Given the description of an element on the screen output the (x, y) to click on. 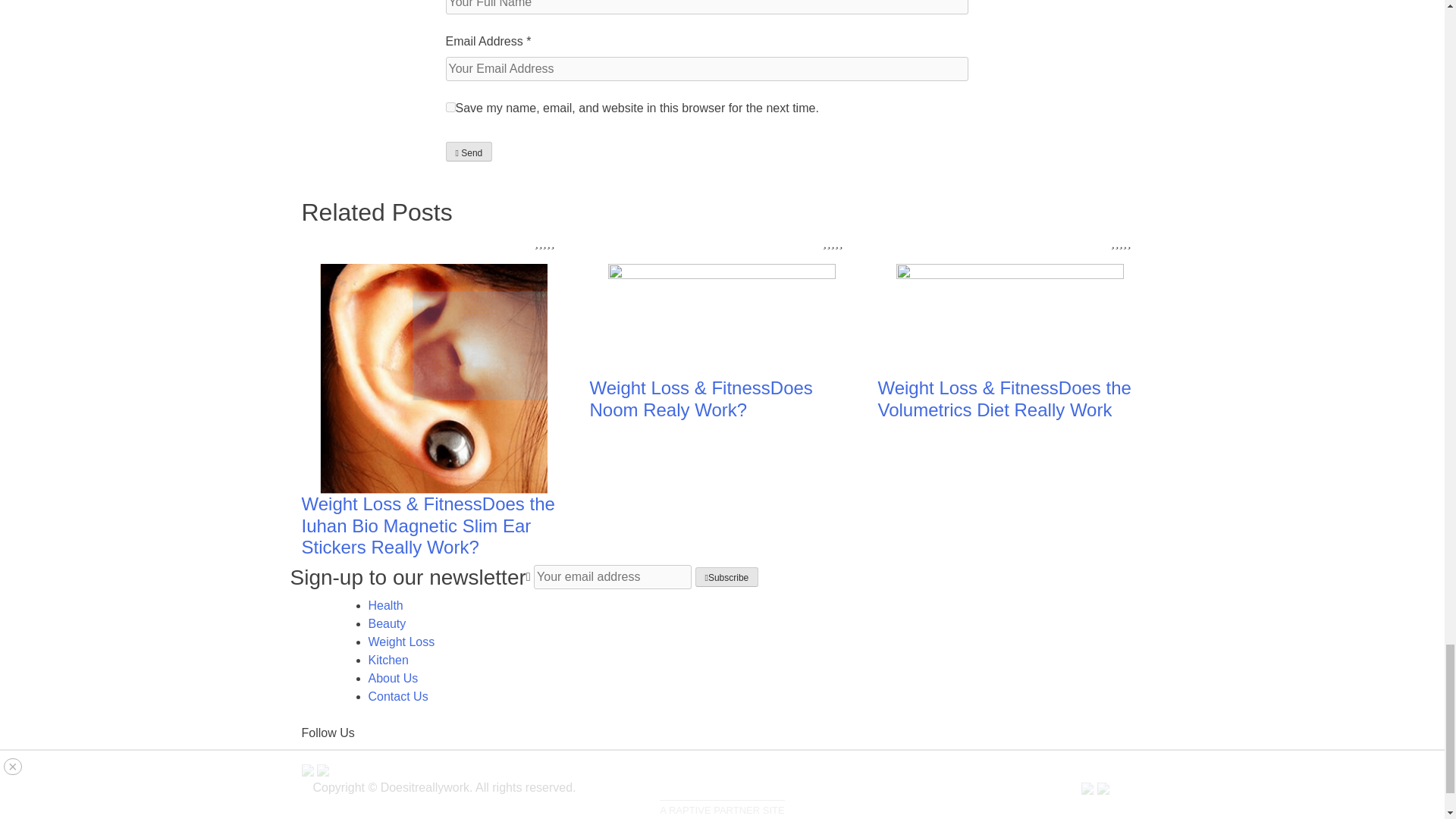
Does the Iuhan Bio Magnetic Slim Ear Stickers Really Work? (427, 525)
yes (450, 107)
Send (469, 151)
Does Noom Realy Work? (700, 398)
